Given the description of an element on the screen output the (x, y) to click on. 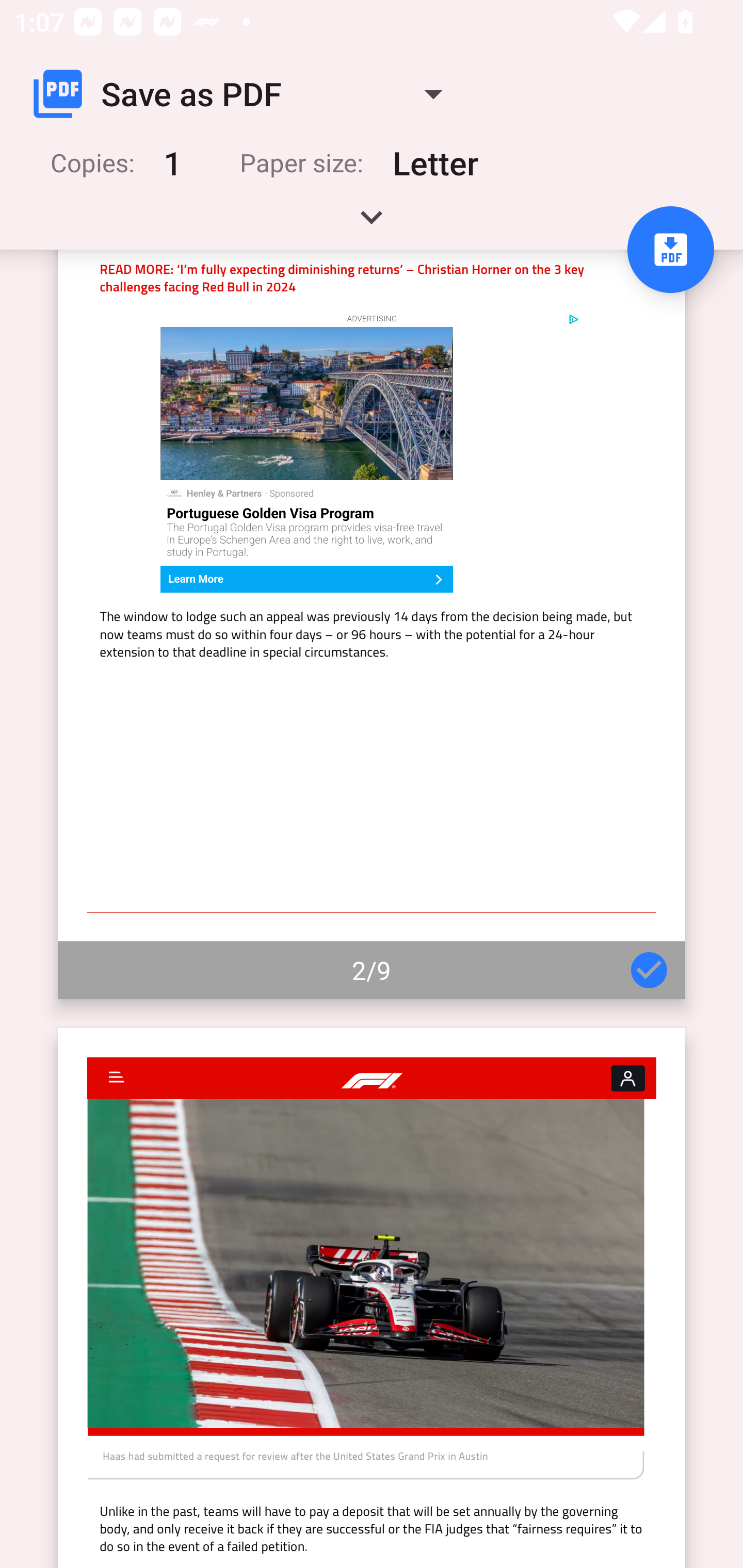
Save as PDF (245, 93)
Expand handle (371, 224)
Save to PDF (670, 249)
Page 2 of 9 2/9 (371, 623)
Page 3 of 9 (371, 1298)
